Given the description of an element on the screen output the (x, y) to click on. 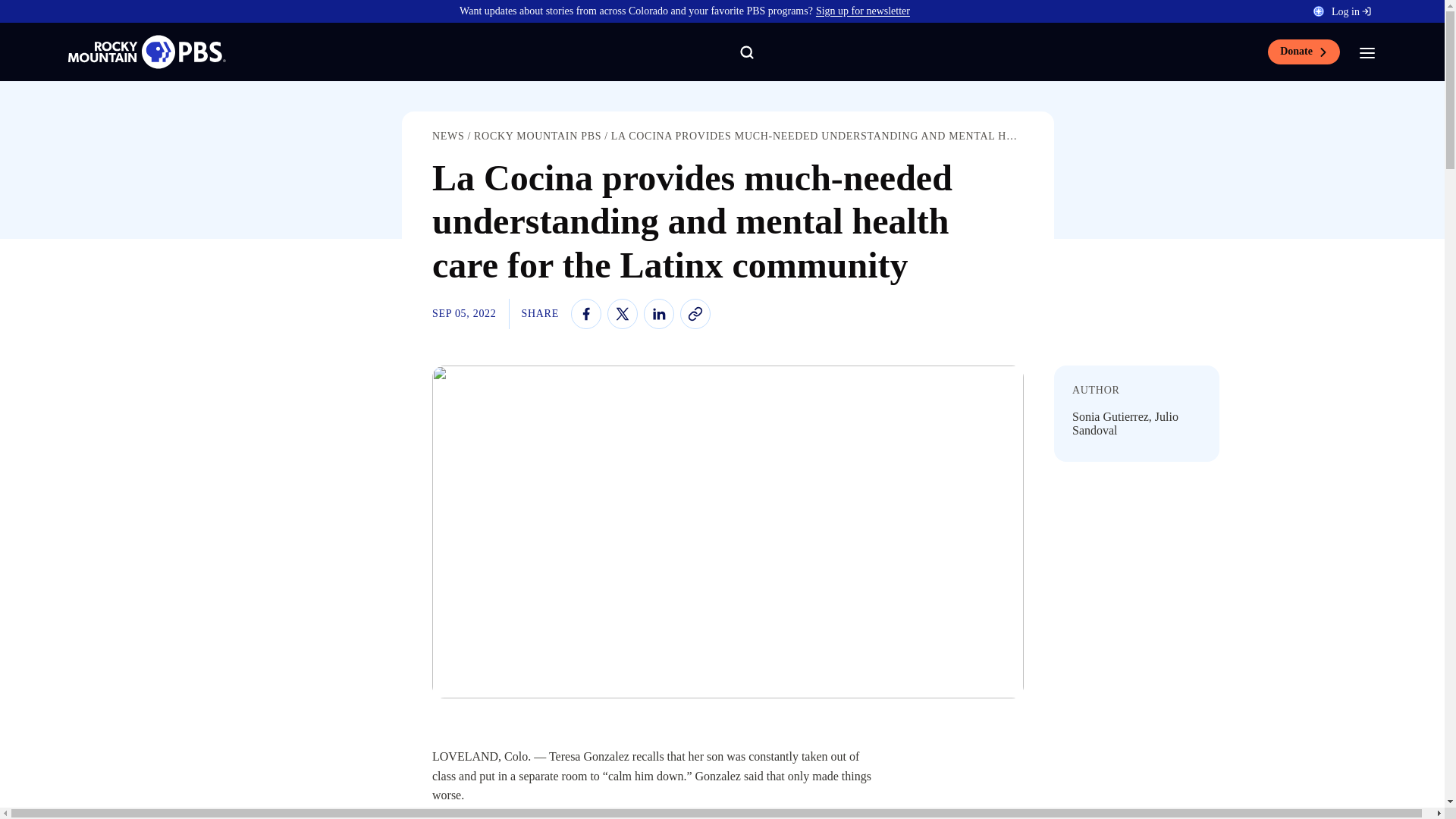
Donate (1303, 51)
NEWS (448, 135)
Sign up for newsletter (862, 11)
ROCKY MOUNTAIN PBS (537, 135)
Log in (1350, 11)
